Given the description of an element on the screen output the (x, y) to click on. 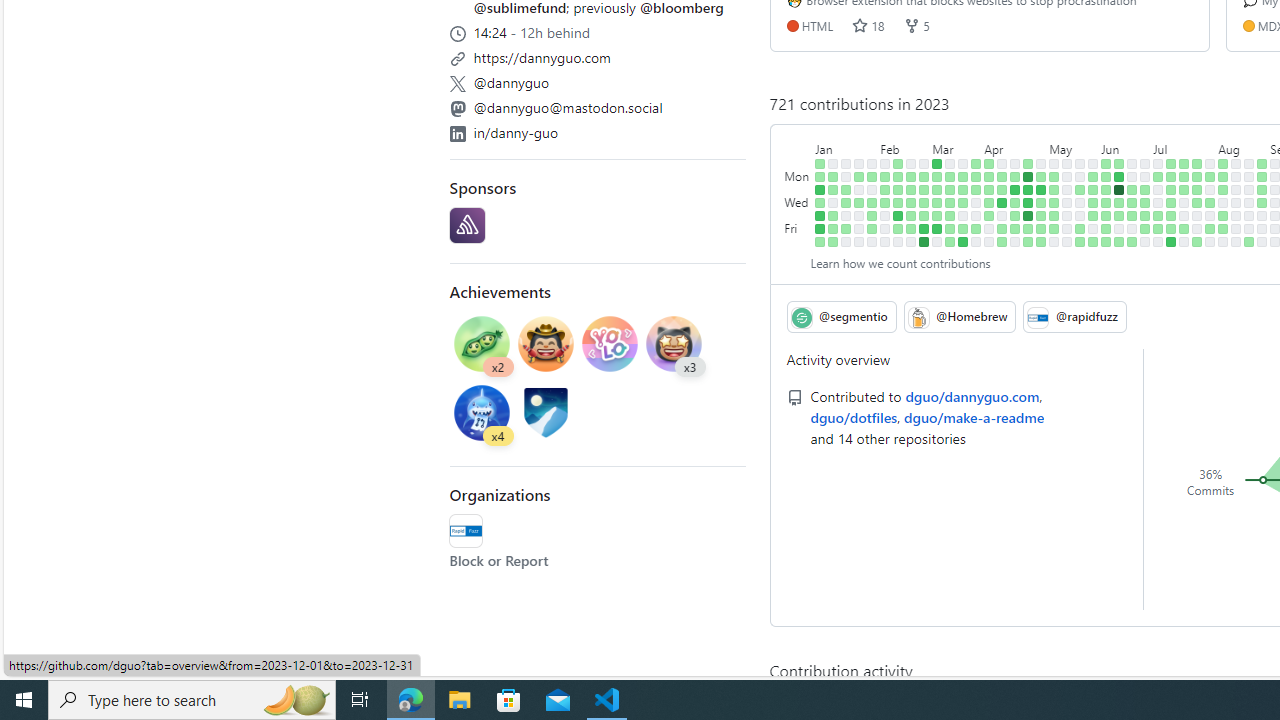
19 contributions on April 27th. (1028, 215)
2 contributions on March 27th. (976, 176)
No contributions on April 22nd. (1015, 241)
No contributions on June 19th. (1131, 176)
35 contributions on June 13th. (1119, 189)
4 contributions on April 15th. (1002, 241)
8 contributions on March 21st. (962, 189)
4 contributions on February 17th. (898, 228)
10 contributions on May 2nd. (1041, 189)
https://dannyguo.com (542, 57)
8 contributions on May 1st. (1041, 176)
@dannyguo@mastodon.social (568, 106)
Achievement: Pair Extraordinaire (481, 343)
2 contributions on July 6th. (1158, 215)
https://dannyguo.com (597, 55)
